Given the description of an element on the screen output the (x, y) to click on. 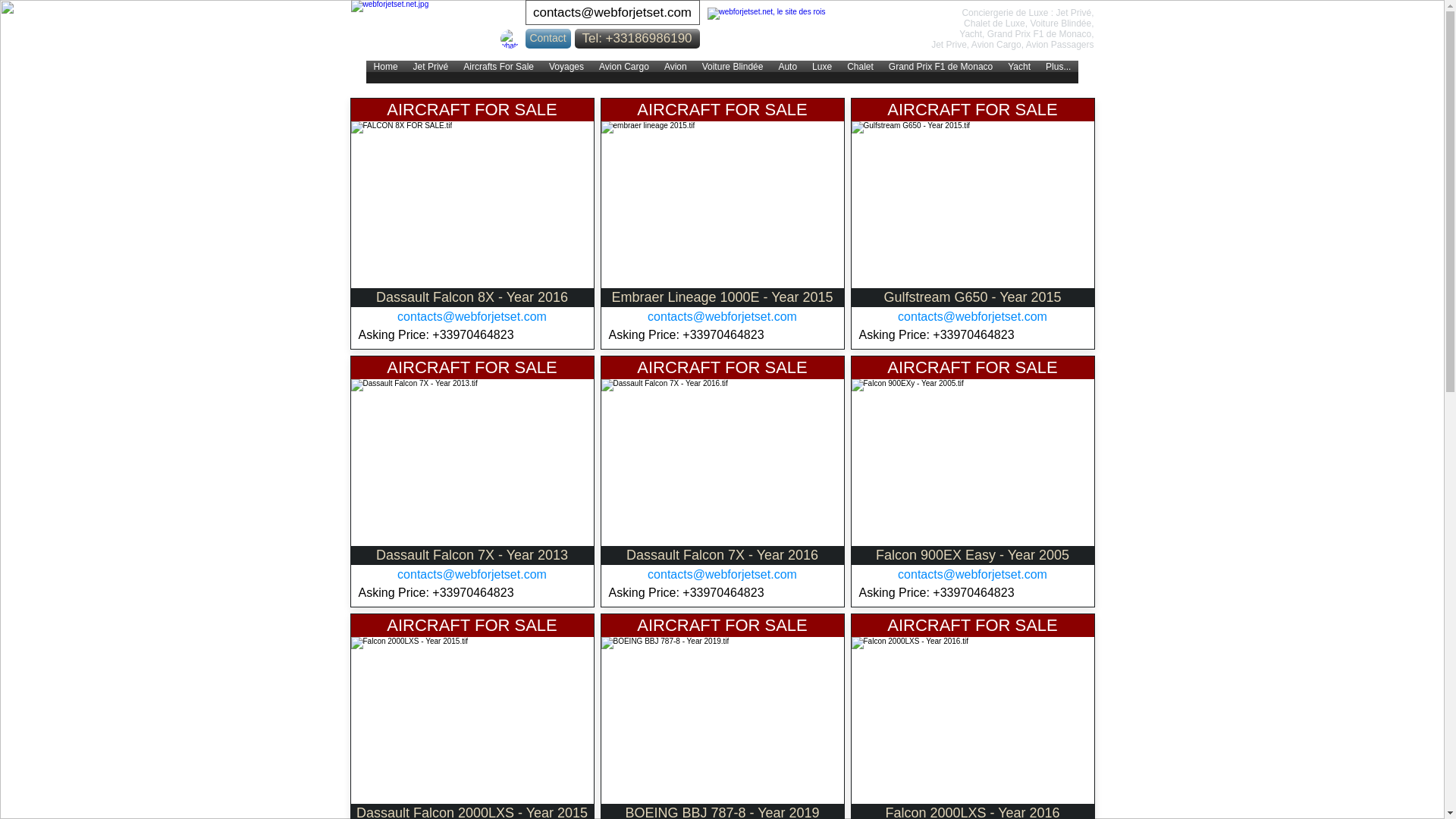
webforjetset.net, le site des rois (790, 31)
Home (386, 71)
Contact (547, 38)
